Given the description of an element on the screen output the (x, y) to click on. 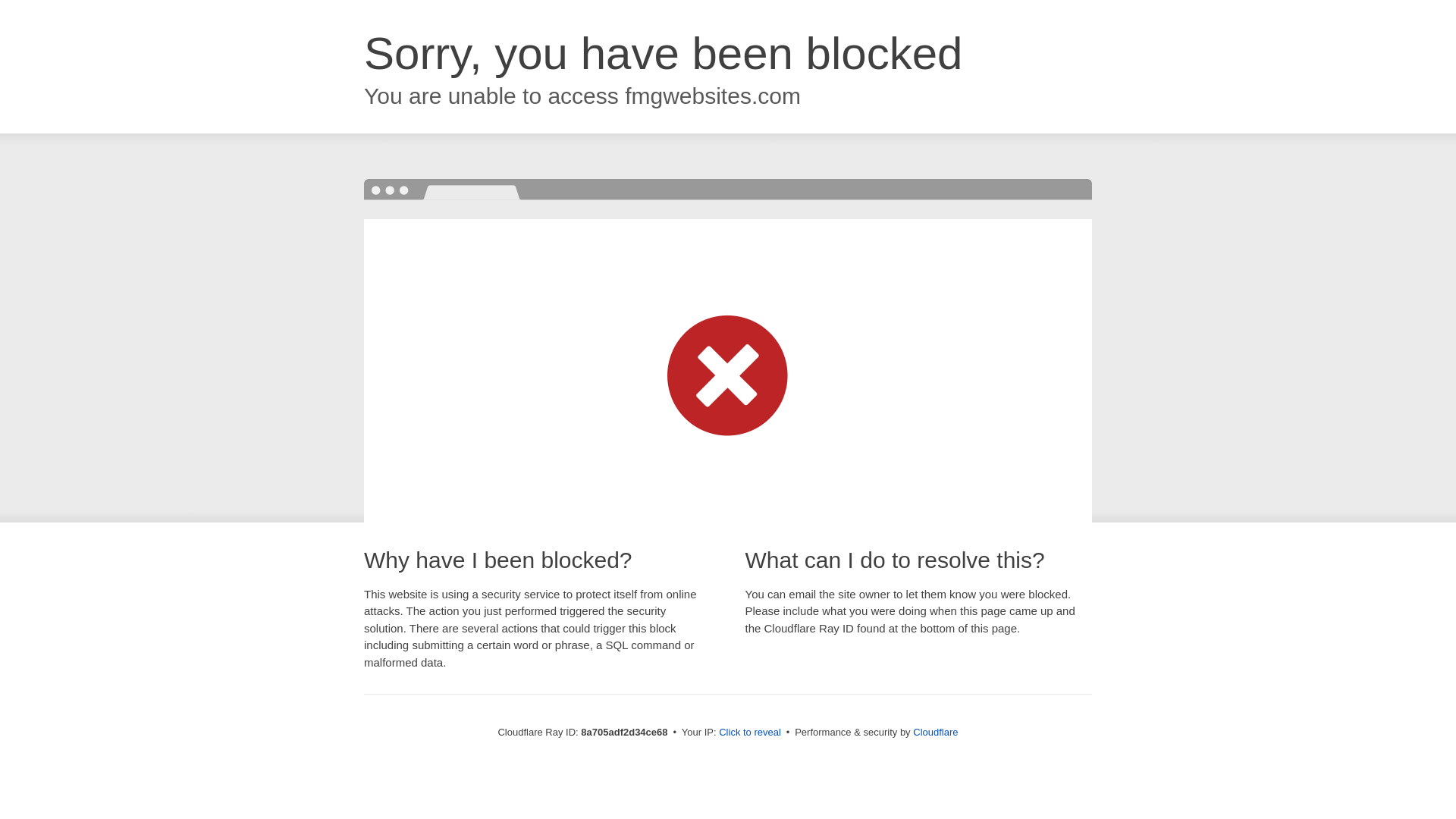
Click to reveal (749, 732)
Cloudflare (935, 731)
